Given the description of an element on the screen output the (x, y) to click on. 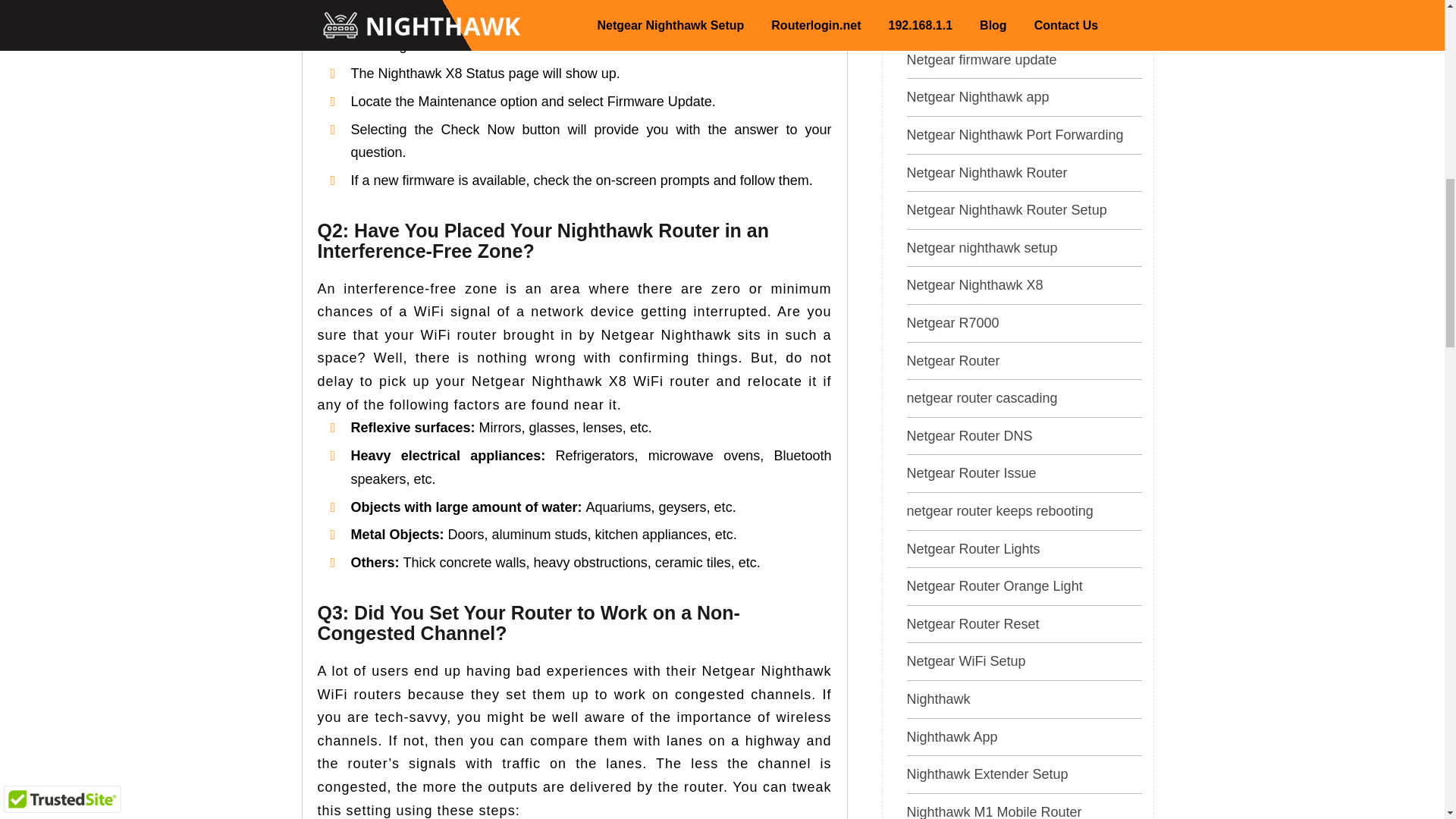
Netgear R7000 (952, 322)
Netgear Nighthawk Router Setup (1006, 209)
Netgear Nighthawk Router (987, 172)
HP Printer Busy (955, 21)
Netgear nighthawk setup (982, 247)
Netgear Nighthawk app (978, 96)
192.168.1.1 (548, 17)
Netgear firmware update (982, 59)
Netgear Nighthawk Port Forwarding (1015, 134)
Netgear Nighthawk X8 (975, 284)
